Given the description of an element on the screen output the (x, y) to click on. 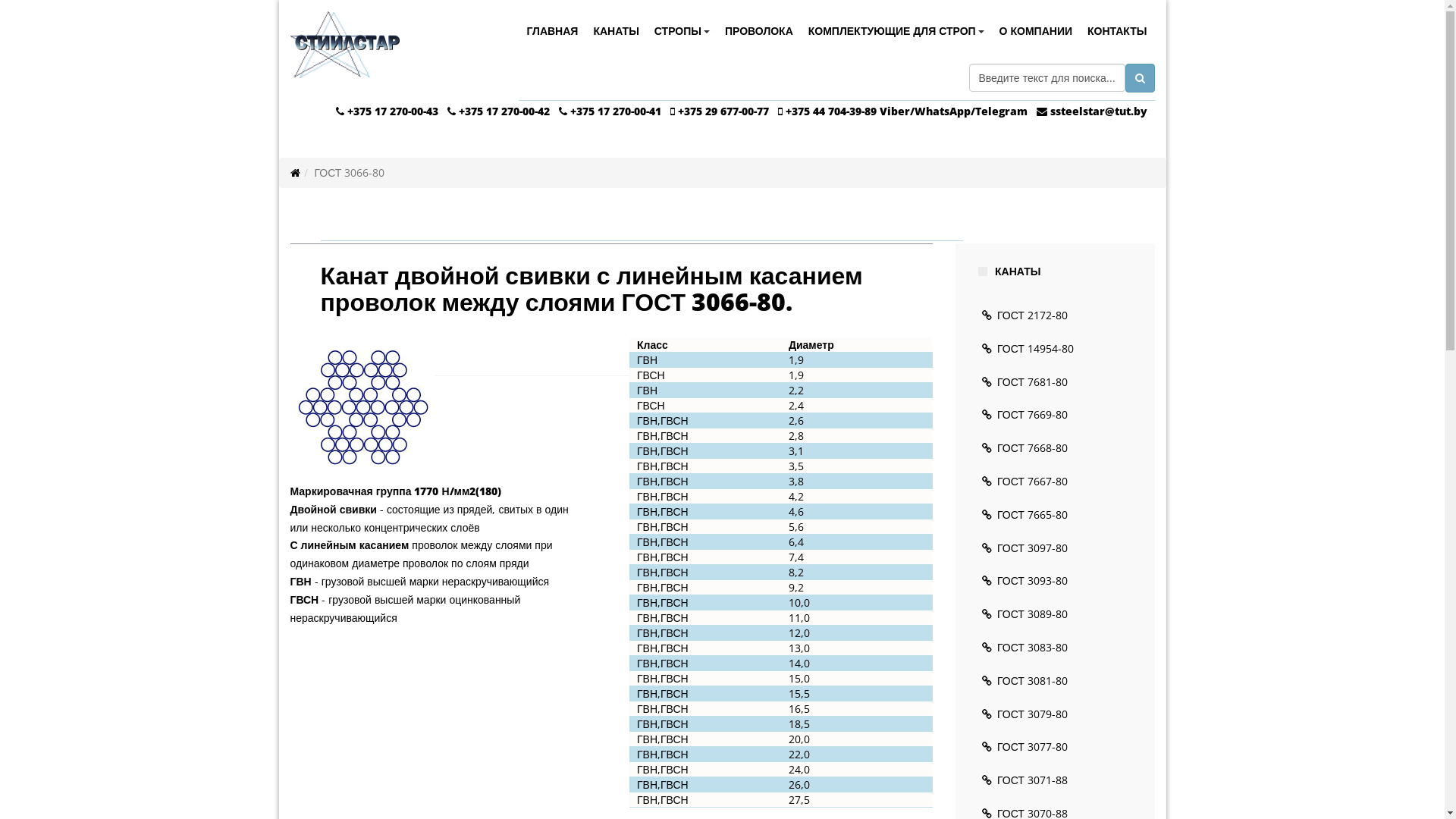
  Element type: text (340, 110)
+375 29 677-00-77 Element type: text (722, 110)
  Element type: text (563, 110)
  Element type: text (452, 110)
+375 17 270-00-43 Element type: text (392, 110)
+375 17 270-00-41 Element type: text (615, 110)
+375 44 704-39-89 Element type: text (830, 110)
+375 17 270-00-42 Element type: text (503, 110)
  Element type: text (781, 110)
  Element type: text (673, 110)
ssteelstar@tut.by Element type: text (1097, 110)
  Element type: text (1042, 110)
